Given the description of an element on the screen output the (x, y) to click on. 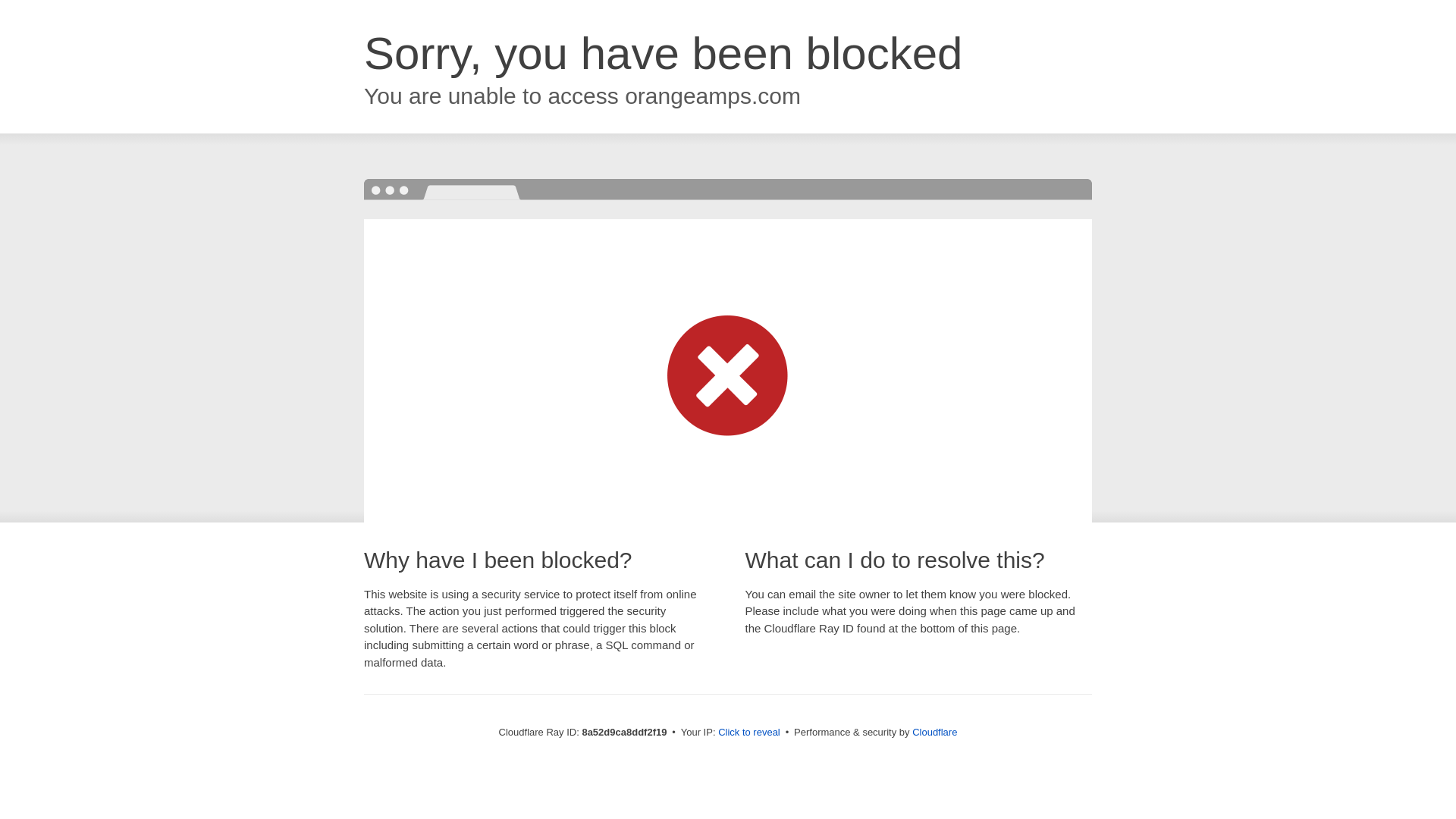
Click to reveal (748, 732)
Cloudflare (934, 731)
